Given the description of an element on the screen output the (x, y) to click on. 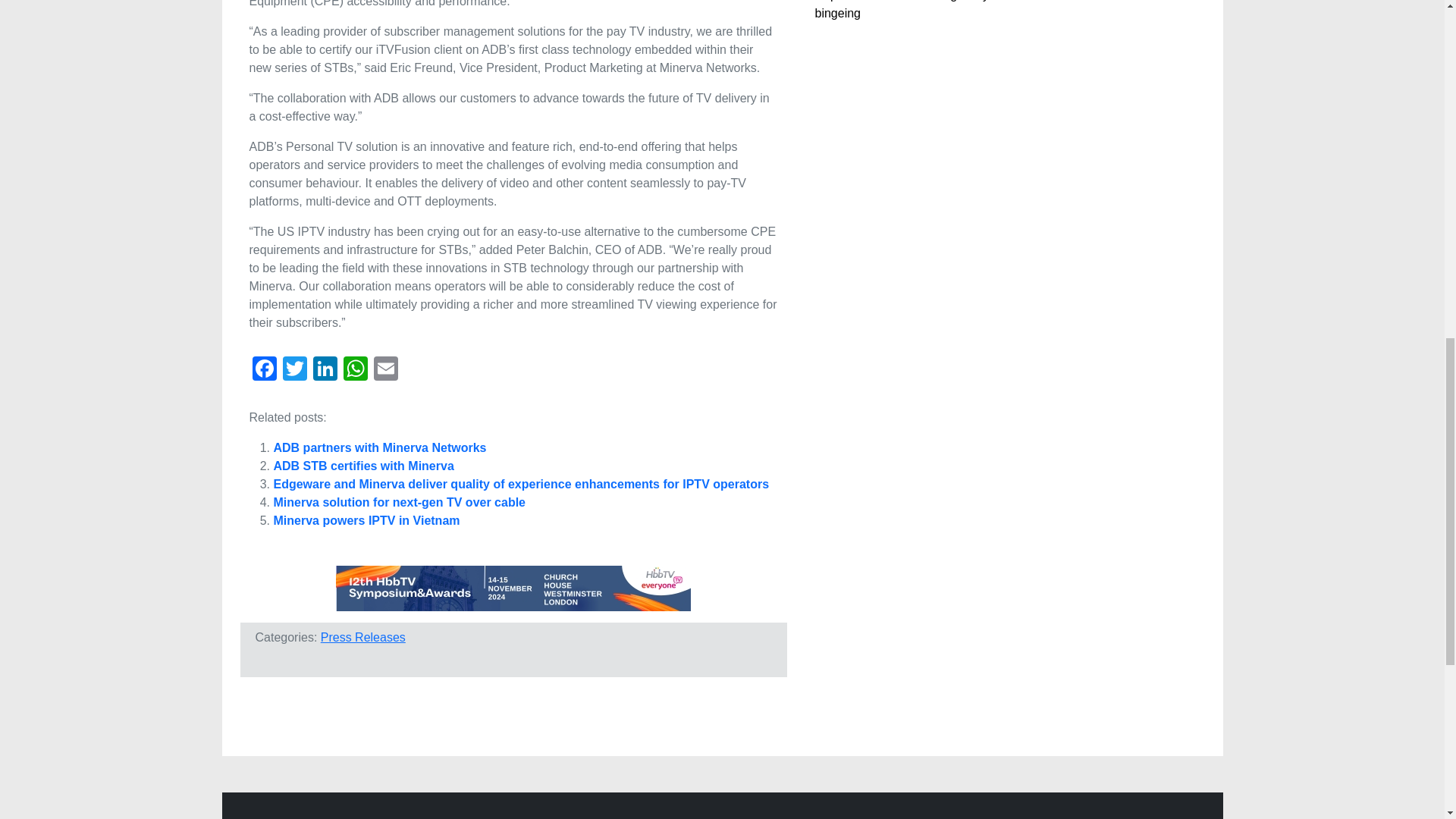
LinkedIn (323, 370)
Report: Americans moving away from TV bingeing (923, 9)
Minerva solution for next-gen TV over cable (399, 502)
Minerva powers IPTV in Vietnam (366, 520)
Minerva solution for next-gen TV over cable (399, 502)
ADB partners with Minerva Networks (379, 447)
Twitter (293, 370)
Email (384, 370)
Press Releases (363, 636)
Facebook (263, 370)
Minerva powers IPTV in Vietnam (366, 520)
Facebook (263, 370)
Twitter (293, 370)
ADB STB certifies with Minerva (362, 465)
